Given the description of an element on the screen output the (x, y) to click on. 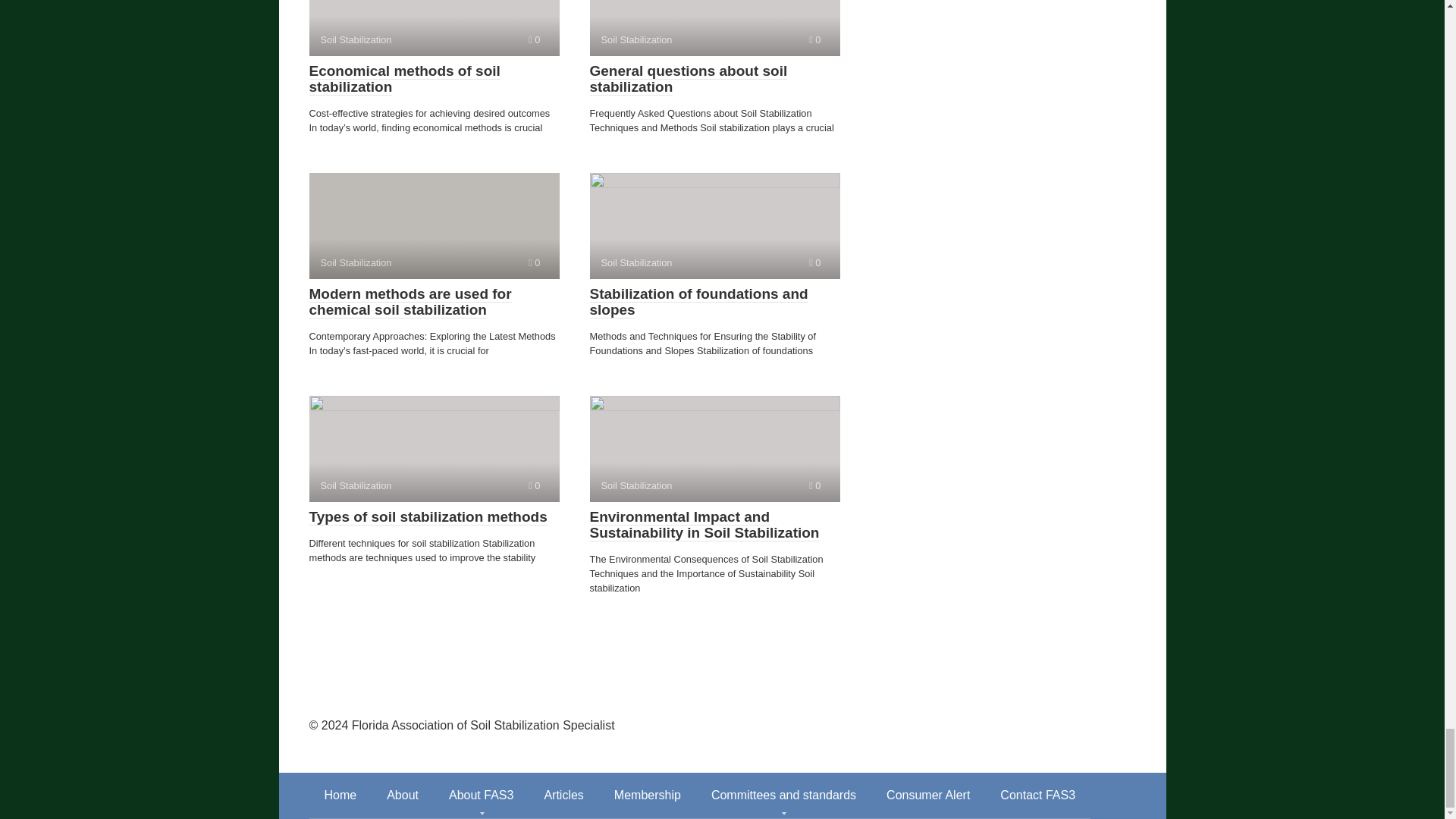
Comments (815, 39)
Modern methods are used for chemical soil stabilization (410, 301)
Comments (534, 39)
Comments (815, 485)
Comments (534, 485)
Economical methods of soil stabilization (404, 79)
Types of soil stabilization methods (427, 516)
Comments (815, 262)
Comments (534, 262)
General questions about soil stabilization (688, 79)
